Given the description of an element on the screen output the (x, y) to click on. 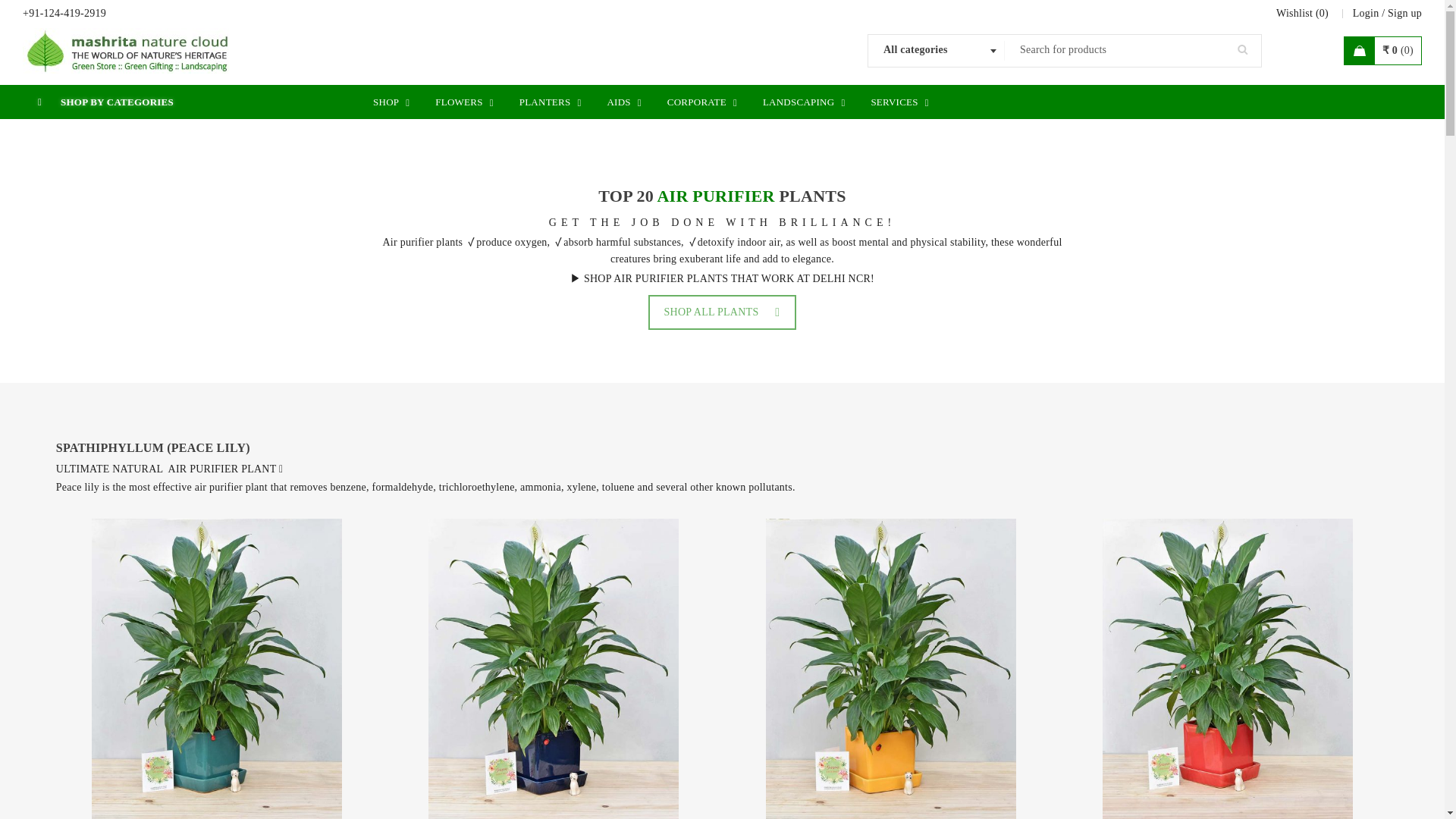
View your shopping bag (1382, 50)
Search (1241, 49)
Search (1241, 49)
Wishlist (1301, 13)
Create New Account (1404, 13)
Shop All Air Purifying Plants (721, 312)
Login (1365, 13)
Login (1365, 13)
Mashrita Nature Cloud (128, 50)
All categories (935, 50)
